Given the description of an element on the screen output the (x, y) to click on. 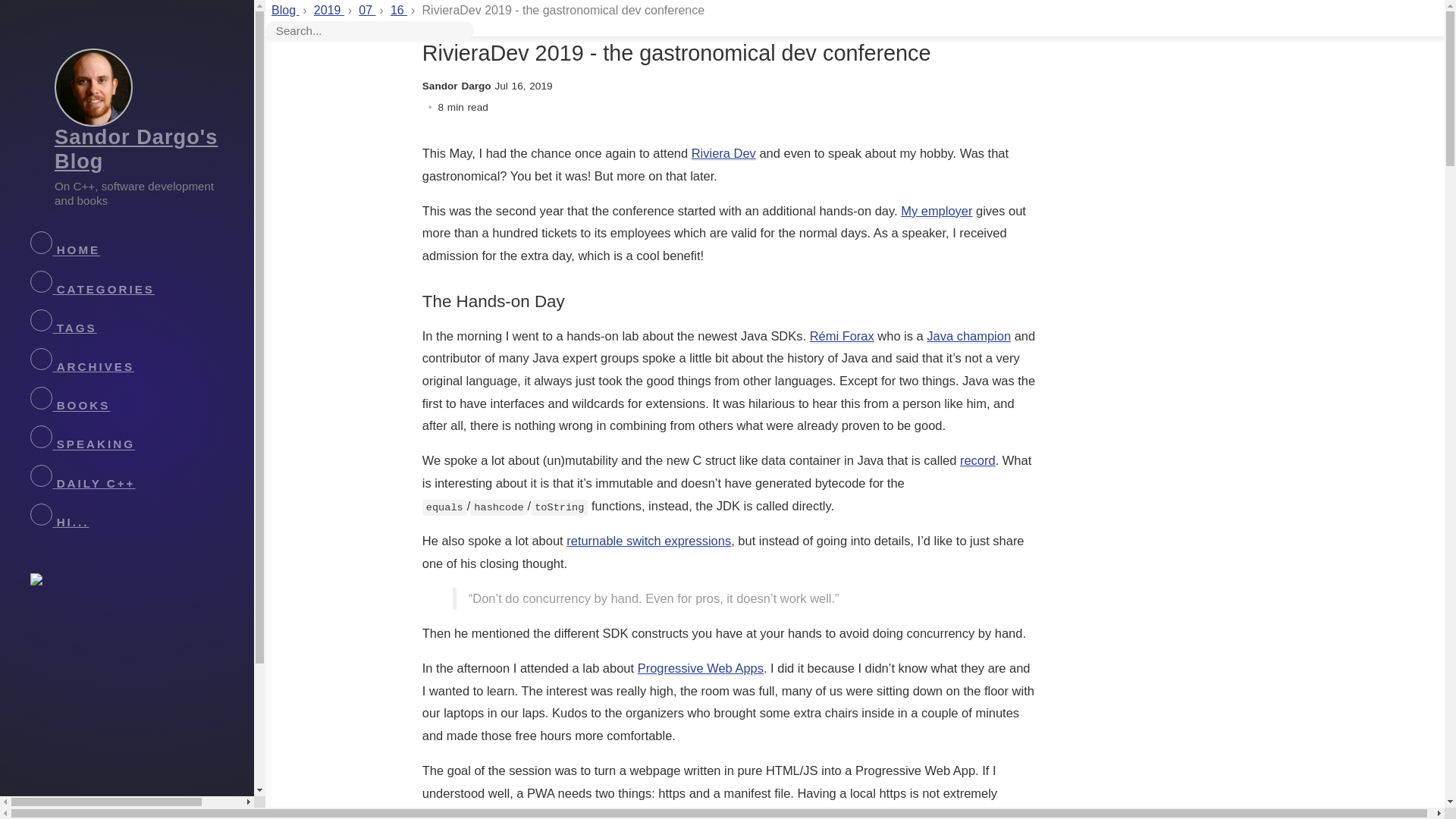
HI... (140, 517)
16 (398, 10)
HOME (141, 246)
Sandor Dargo's Blog (135, 148)
CATEGORIES (141, 285)
Blog (284, 10)
My employer (936, 210)
returnable switch expressions (648, 540)
TAGS (141, 323)
BOOKS (141, 402)
Riviera Dev (723, 153)
2019 (328, 10)
SPEAKING (141, 440)
1492 words (462, 107)
record (977, 460)
